Given the description of an element on the screen output the (x, y) to click on. 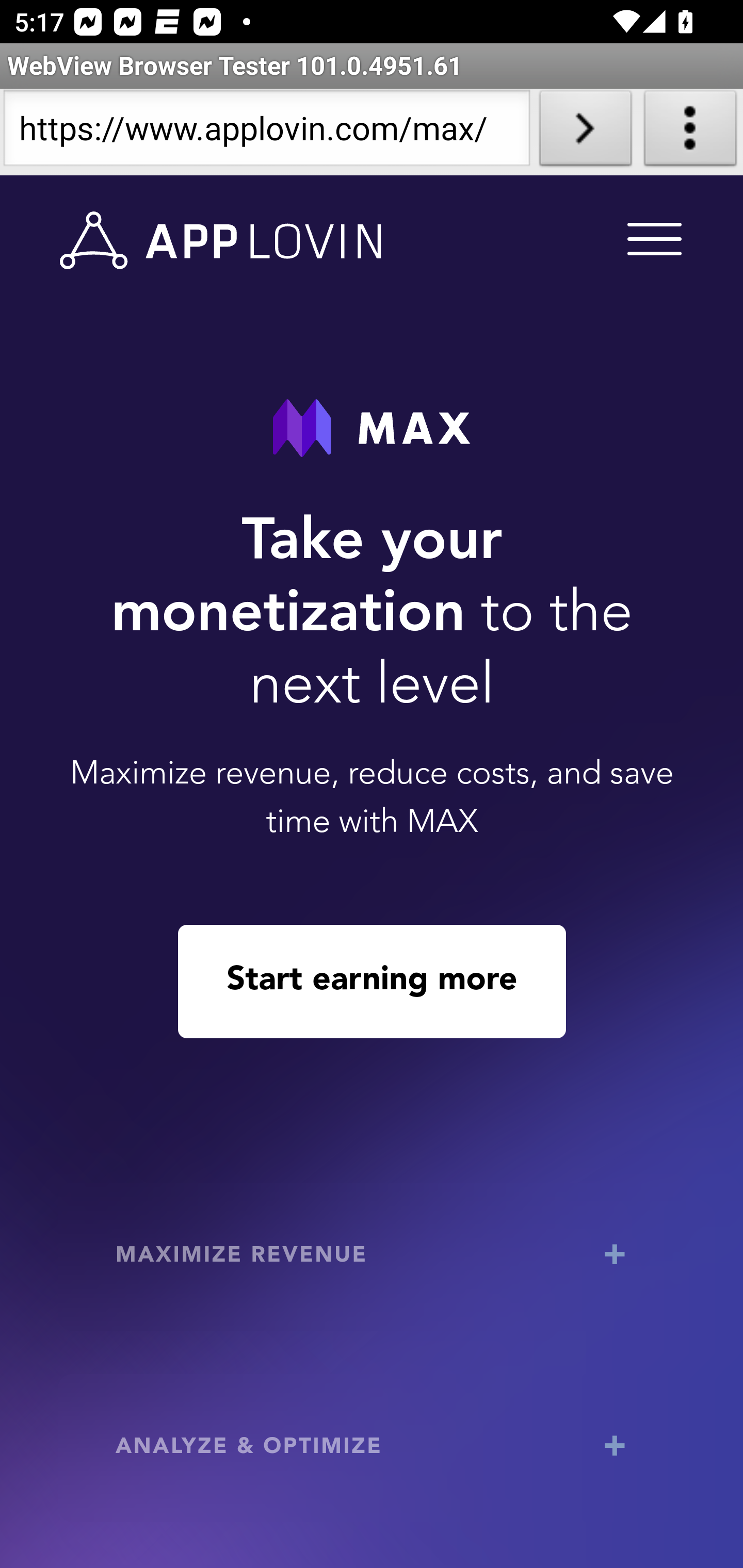
https://www.applovin.com/max/ (266, 132)
Load URL (585, 132)
About WebView (690, 132)
Menu Trigger (650, 237)
www.applovin (220, 241)
Start earning more (371, 980)
MAXIMIZE REVENUE + (372, 1256)
ANALYZE & OPTIMIZE + (372, 1448)
